Given the description of an element on the screen output the (x, y) to click on. 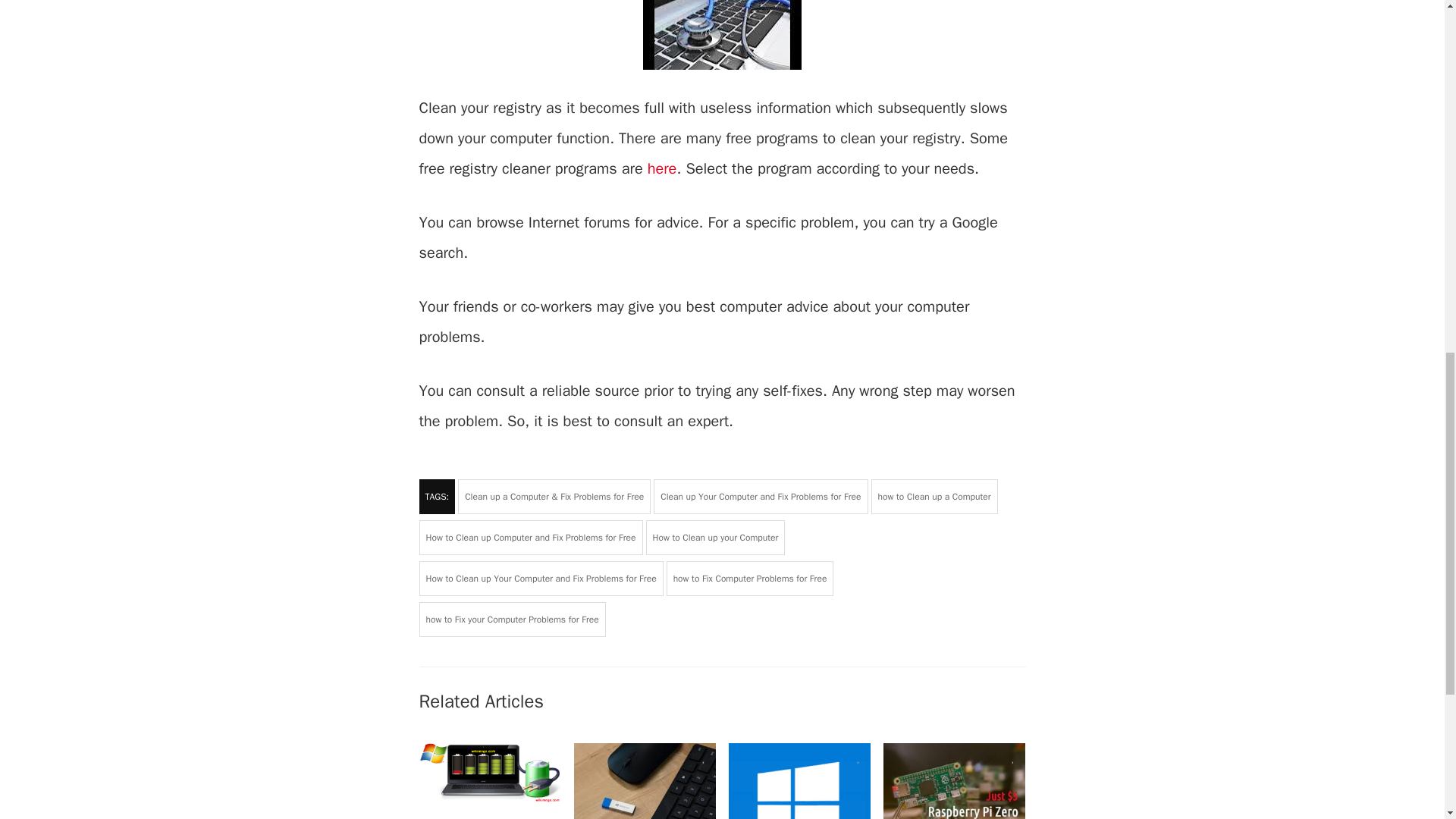
here (662, 168)
how to Fix Computer Problems for Free (750, 578)
How to Boost Laptop Battery Life for Lifetime (487, 818)
How to Clean up Computer and Fix Problems for Free (530, 537)
How to Clean up your Computer (716, 537)
How to Clean up Your Computer and Fix Problems for Free (540, 578)
how to Clean up a Computer (933, 496)
Clean up Your Computer and Fix Problems for Free (760, 496)
how to Fix your Computer Problems for Free (512, 619)
